Given the description of an element on the screen output the (x, y) to click on. 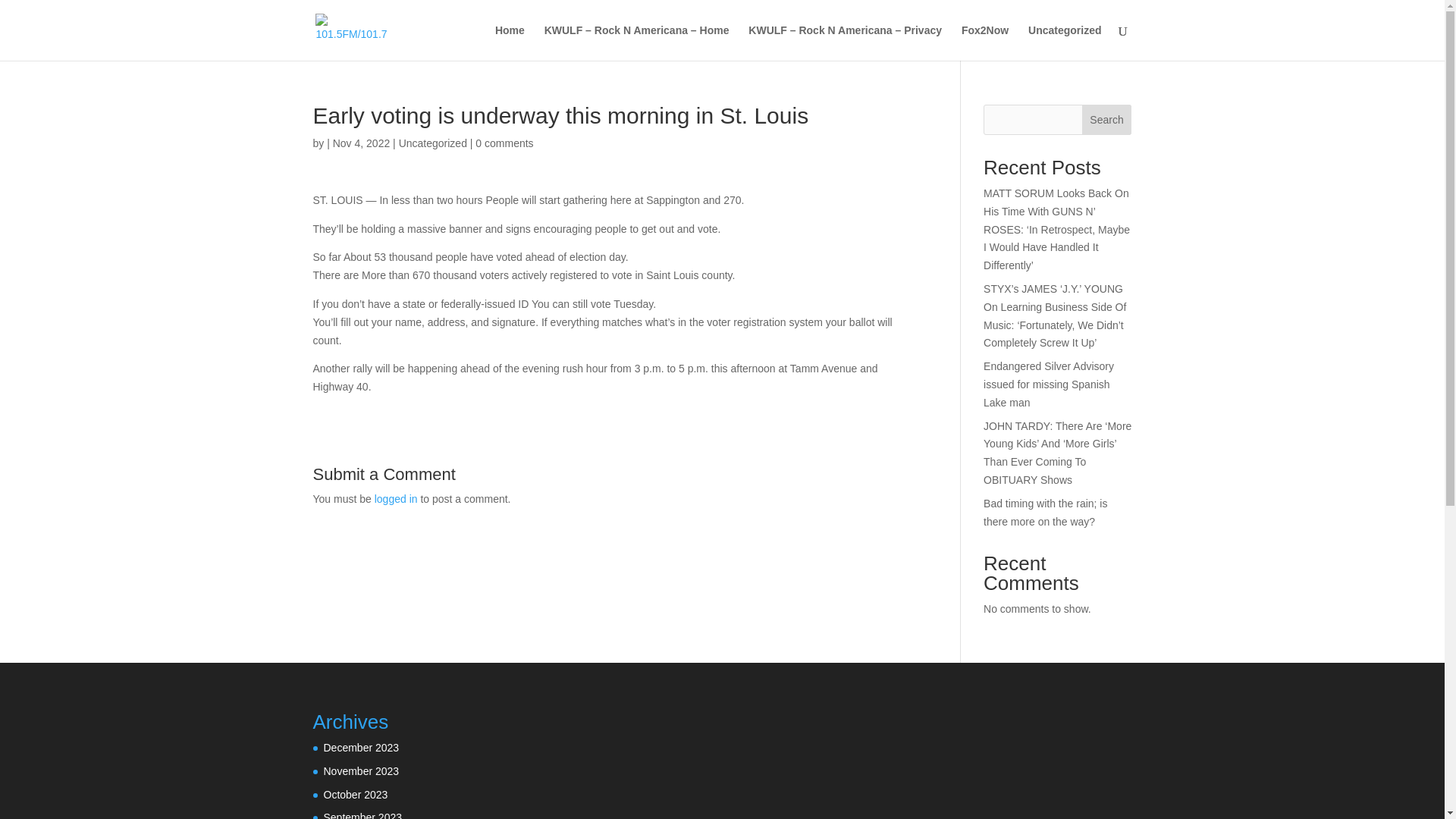
logged in (395, 499)
Fox2Now (984, 42)
September 2023 (362, 815)
Uncategorized (1063, 42)
0 comments (504, 143)
Search (1106, 119)
December 2023 (360, 747)
Bad timing with the rain; is there more on the way? (1045, 512)
October 2023 (355, 794)
Uncategorized (432, 143)
November 2023 (360, 770)
